Given the description of an element on the screen output the (x, y) to click on. 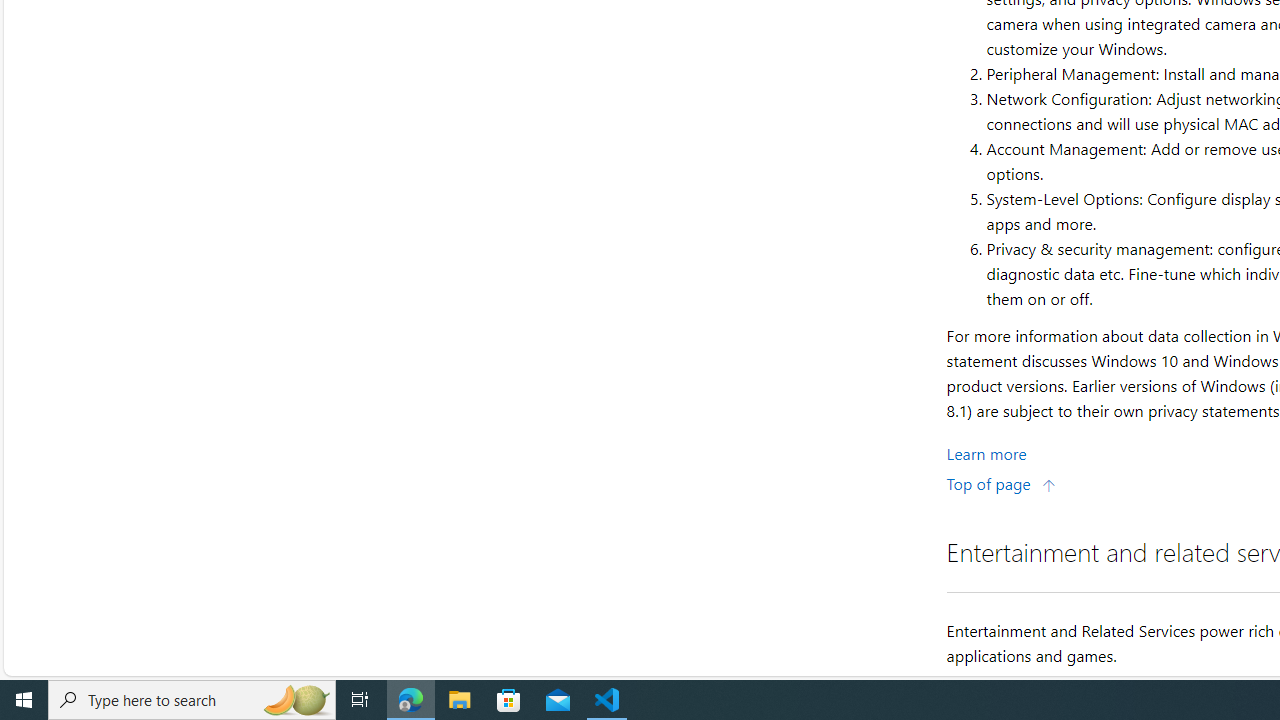
Top of page (1001, 482)
Learn More about Windows (985, 452)
